Given the description of an element on the screen output the (x, y) to click on. 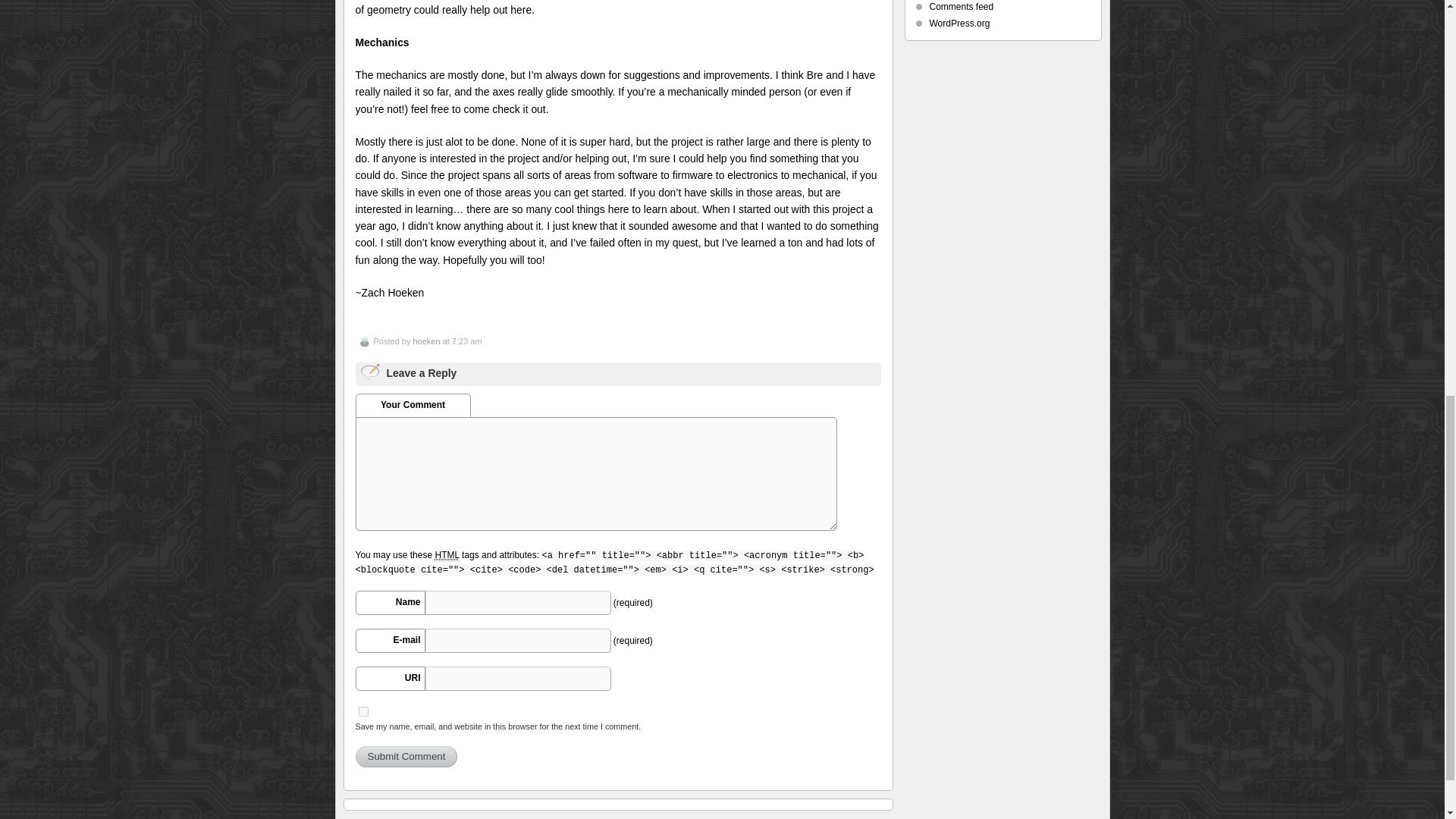
HyperText Markup Language (445, 555)
Submit Comment (406, 756)
Comments feed (962, 6)
WordPress.org (960, 23)
yes (363, 711)
Submit Comment (406, 756)
hoeken (425, 340)
